Given the description of an element on the screen output the (x, y) to click on. 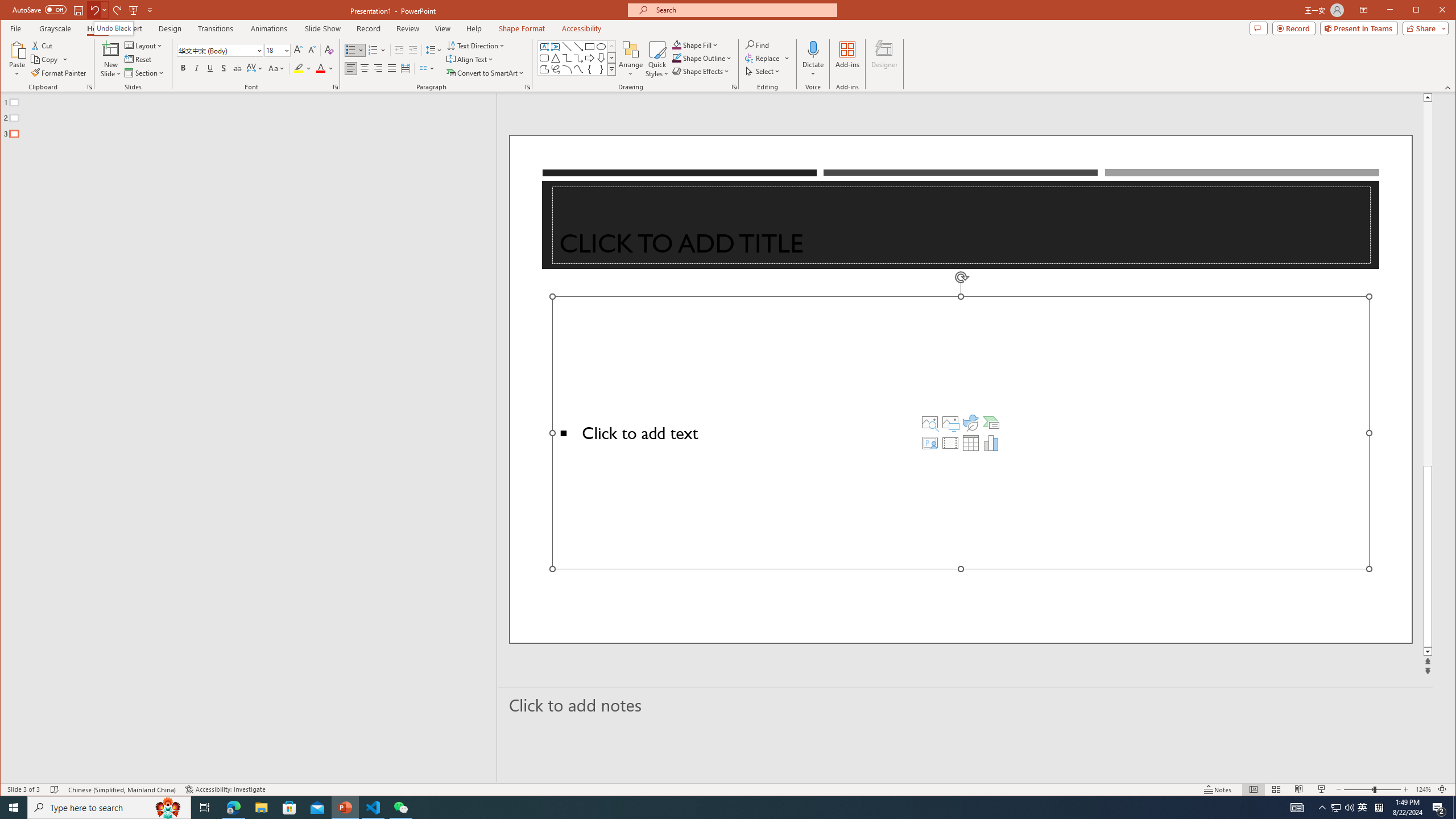
Freeform: Shape (544, 69)
Paste (17, 59)
Line down (1427, 651)
Rectangle (242, 436)
Outline (252, 115)
Insert a SmartArt Graphic (991, 422)
New Slide (110, 48)
Font Color Red (320, 68)
Shape Effects (702, 70)
